Given the description of an element on the screen output the (x, y) to click on. 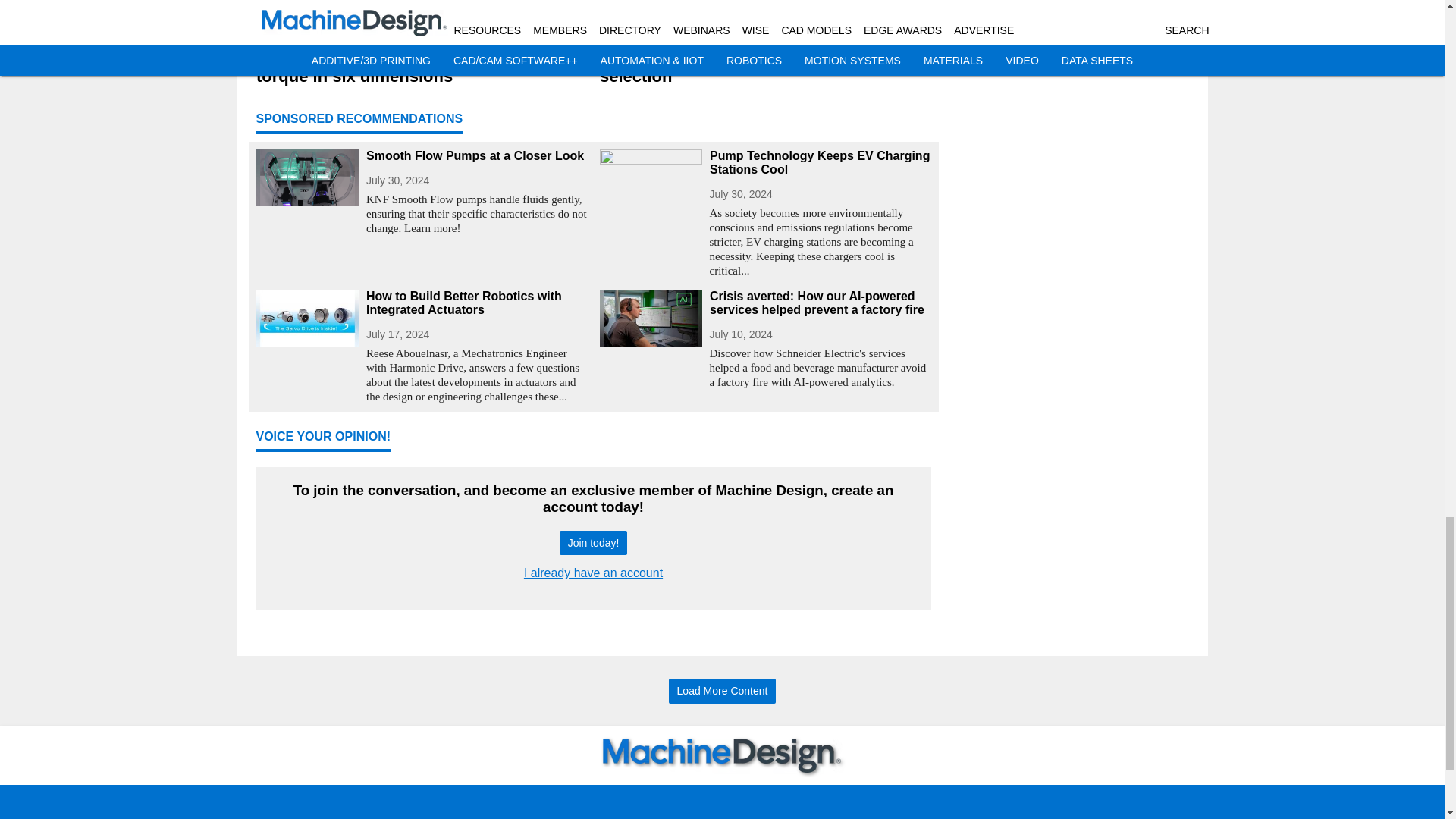
Join today! (593, 543)
Power and efficiency drive motor selection (764, 66)
How to Build Better Robotics with Integrated Actuators (476, 302)
Smooth Flow Pumps at a Closer Look (476, 155)
Pump Technology Keeps EV Charging Stations Cool (820, 162)
